Given the description of an element on the screen output the (x, y) to click on. 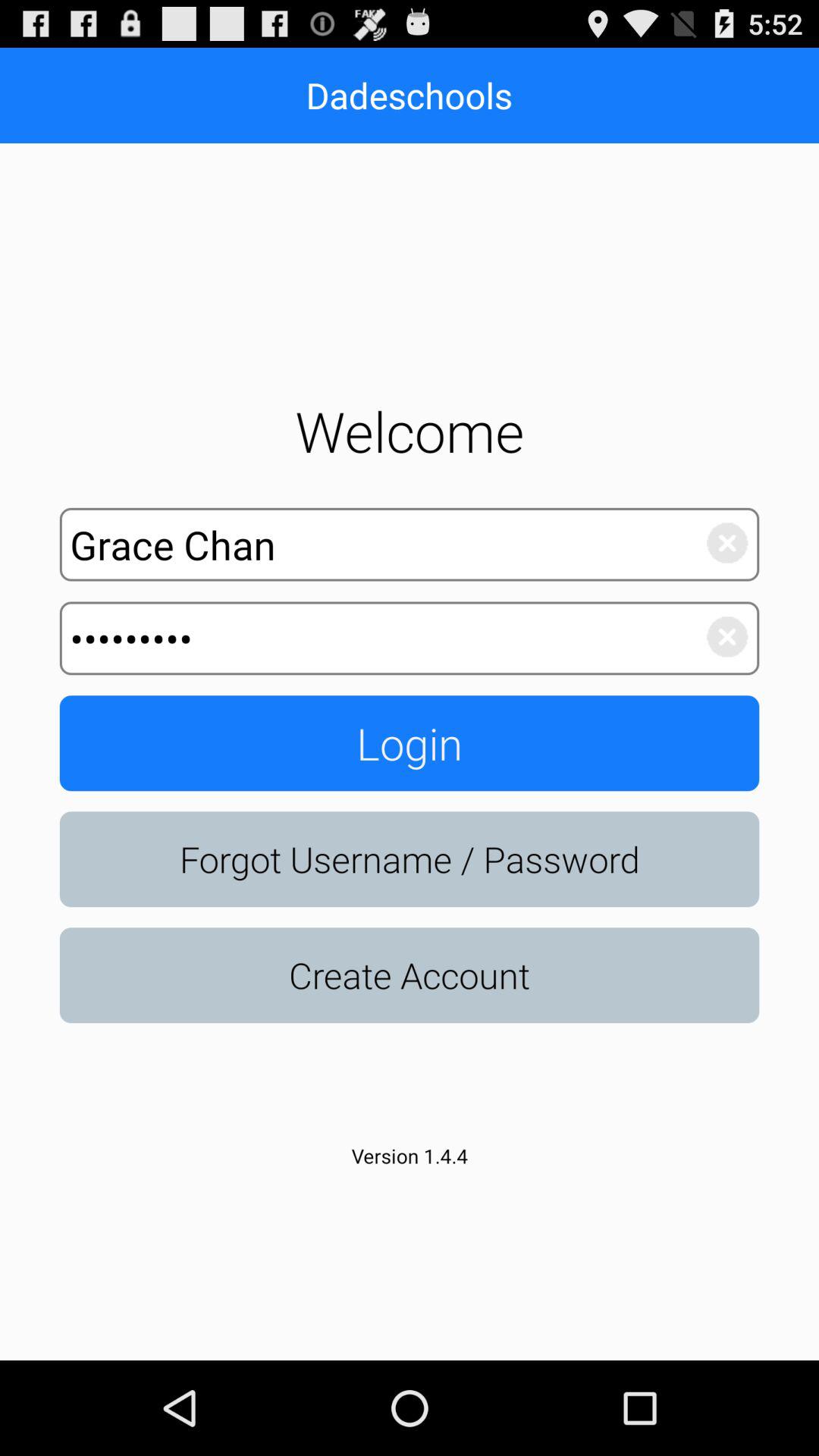
delete option (719, 539)
